Given the description of an element on the screen output the (x, y) to click on. 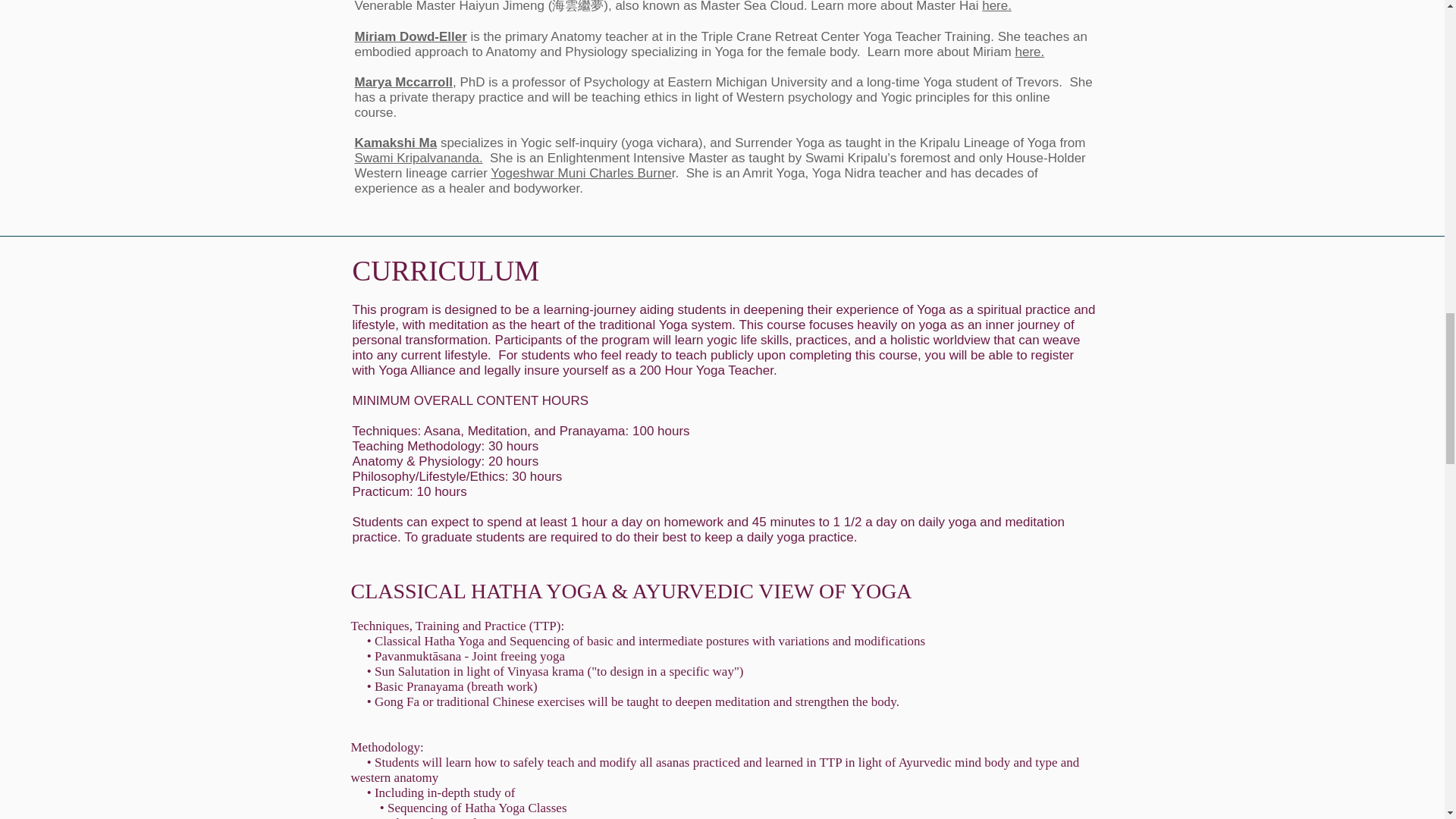
here. (996, 6)
here. (1028, 51)
Yogeshwar Muni Charles Burne (580, 173)
Swami Kripalvananda. (419, 157)
